Given the description of an element on the screen output the (x, y) to click on. 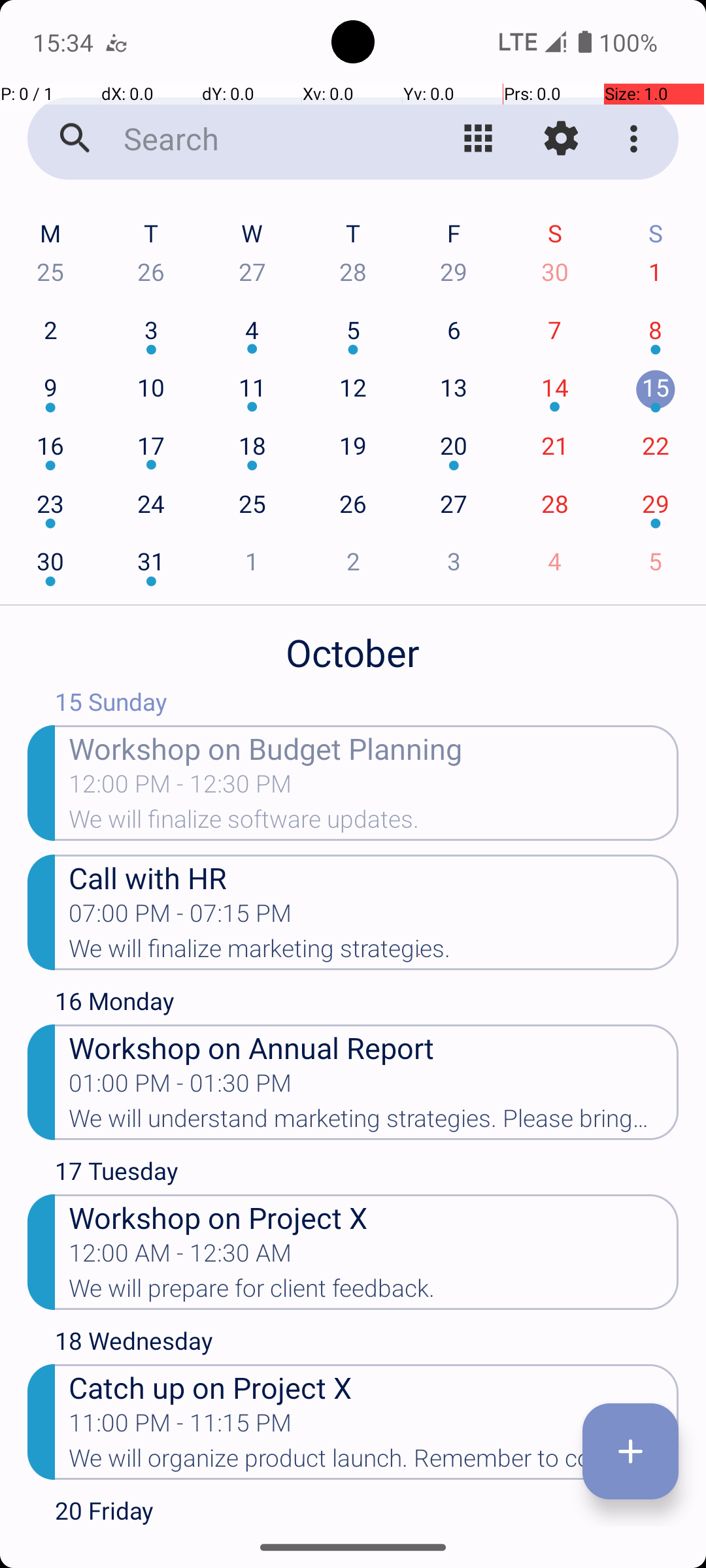
Workshop on Budget Planning Element type: android.widget.TextView (373, 747)
12:00 PM - 12:30 PM Element type: android.widget.TextView (179, 787)
We will finalize software updates. Element type: android.widget.TextView (373, 822)
07:00 PM - 07:15 PM Element type: android.widget.TextView (179, 916)
We will finalize marketing strategies. Element type: android.widget.TextView (373, 952)
01:00 PM - 01:30 PM Element type: android.widget.TextView (179, 1086)
We will understand marketing strategies. Please bring relevant documents. Element type: android.widget.TextView (373, 1122)
Workshop on Project X Element type: android.widget.TextView (373, 1216)
12:00 AM - 12:30 AM Element type: android.widget.TextView (179, 1256)
We will prepare for client feedback. Element type: android.widget.TextView (373, 1291)
11:00 PM - 11:15 PM Element type: android.widget.TextView (179, 1426)
We will organize product launch. Remember to confirm attendance. Element type: android.widget.TextView (373, 1461)
